Given the description of an element on the screen output the (x, y) to click on. 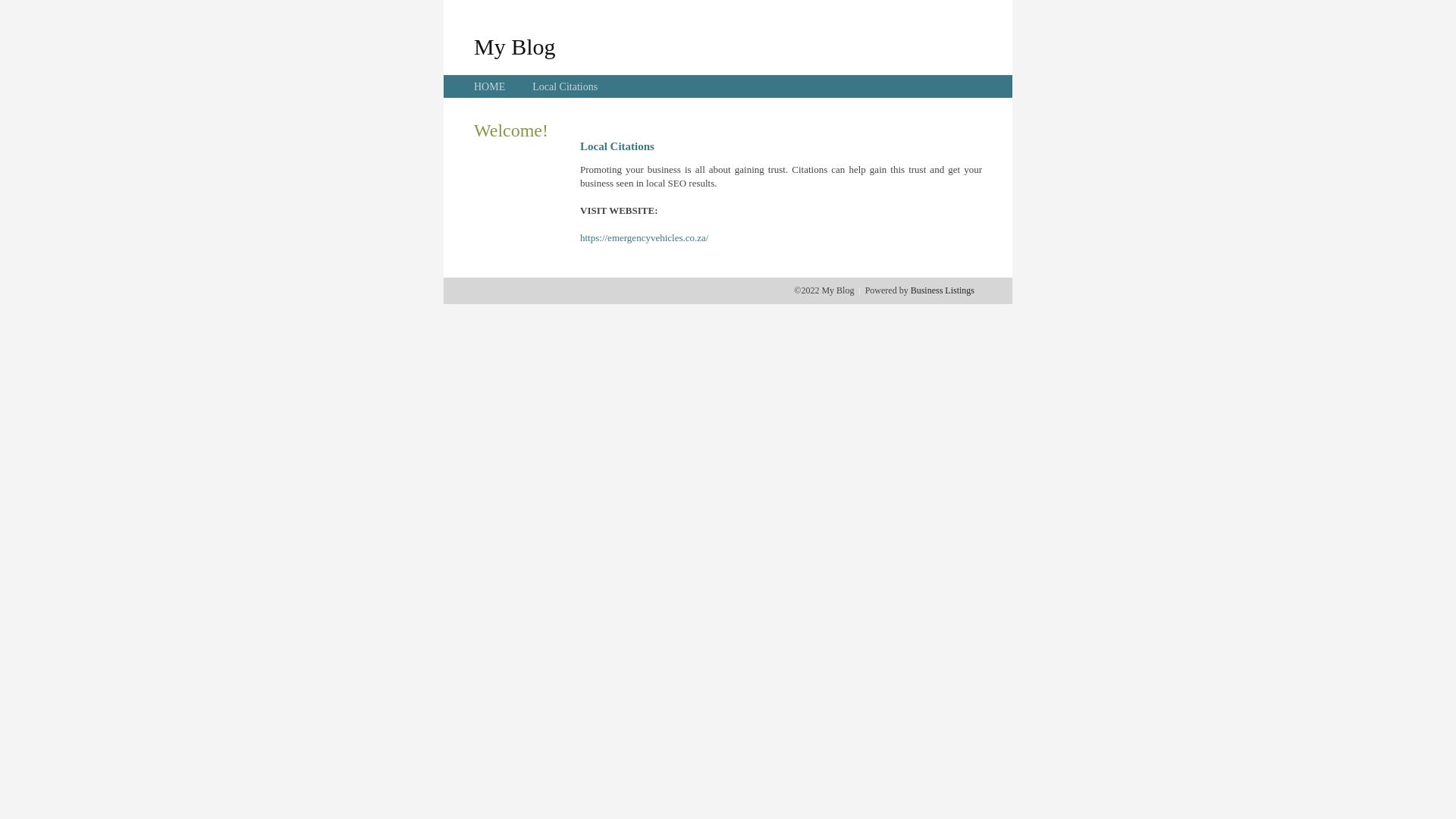
Business Listings Element type: text (942, 290)
Local Citations Element type: text (564, 86)
https://emergencyvehicles.co.za/ Element type: text (644, 237)
My Blog Element type: text (514, 46)
HOME Element type: text (489, 86)
